Given the description of an element on the screen output the (x, y) to click on. 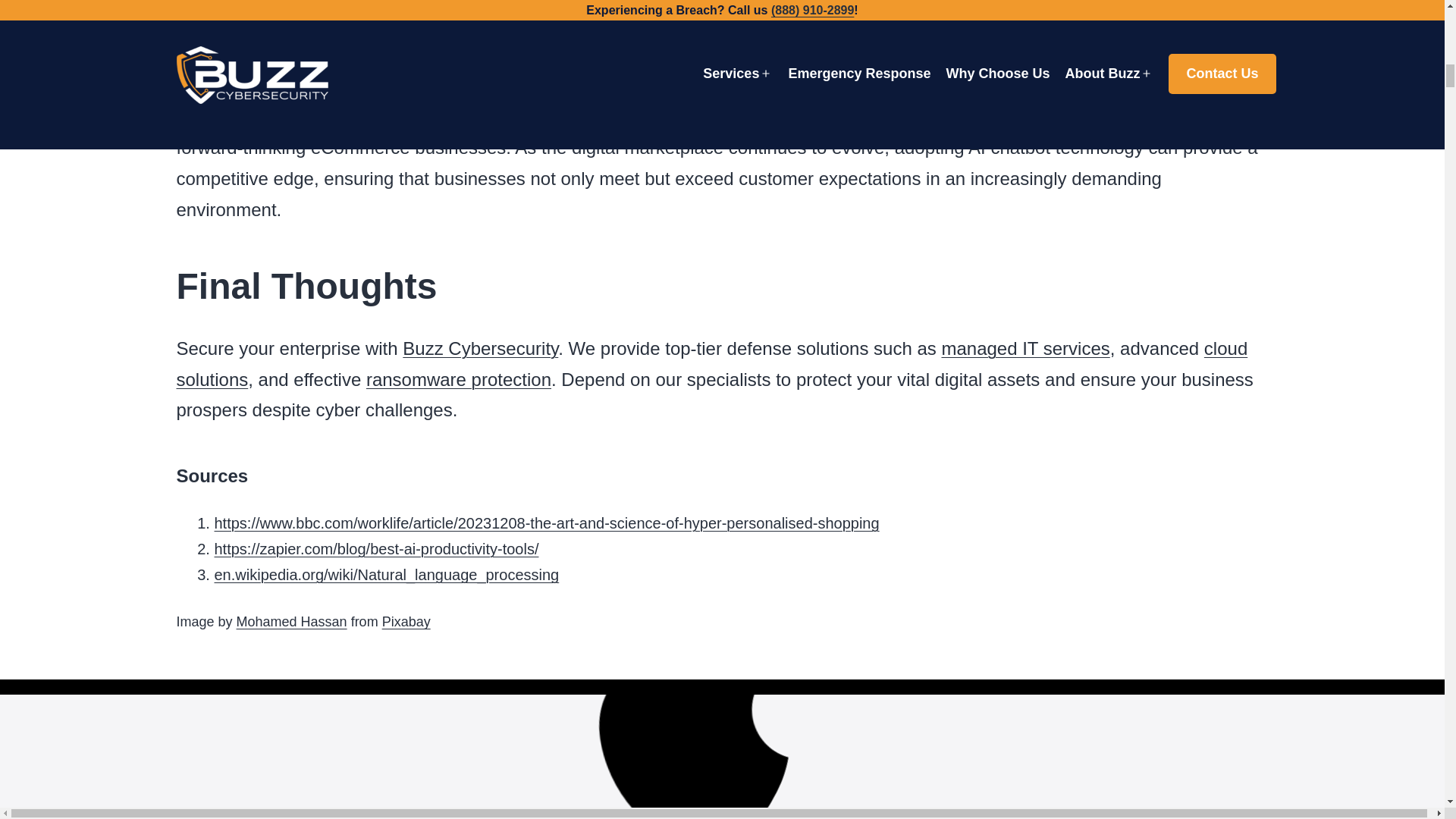
managed IT services (1024, 348)
ransomware protection (458, 379)
Mohamed Hassan (291, 621)
Buzz Cybersecurity (480, 348)
cloud solutions (711, 363)
Pixabay (405, 621)
